Given the description of an element on the screen output the (x, y) to click on. 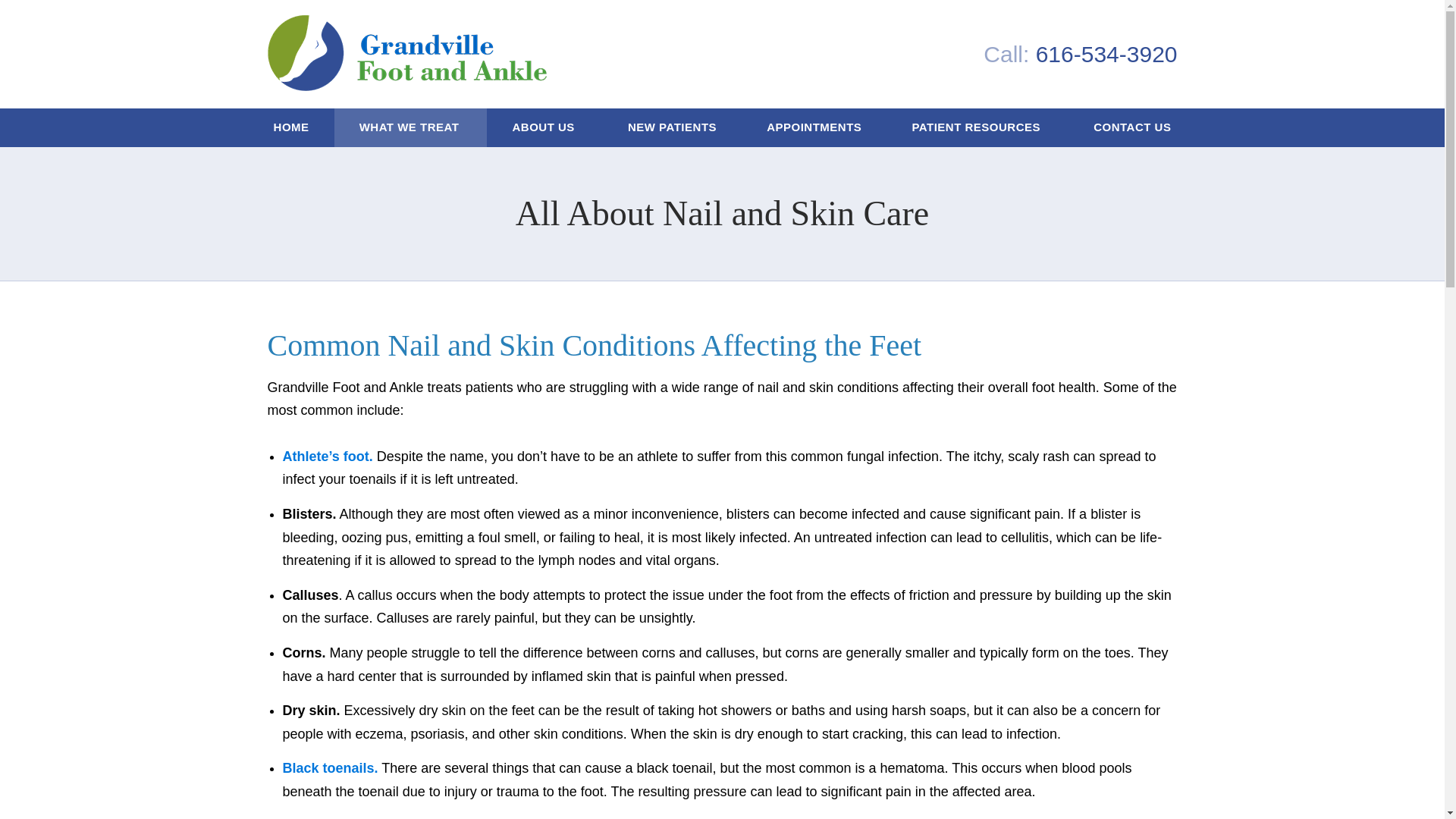
APPOINTMENTS (813, 127)
WHAT WE TREAT (410, 127)
NEW PATIENTS (671, 127)
HOME (291, 127)
ABOUT US (544, 127)
